Given the description of an element on the screen output the (x, y) to click on. 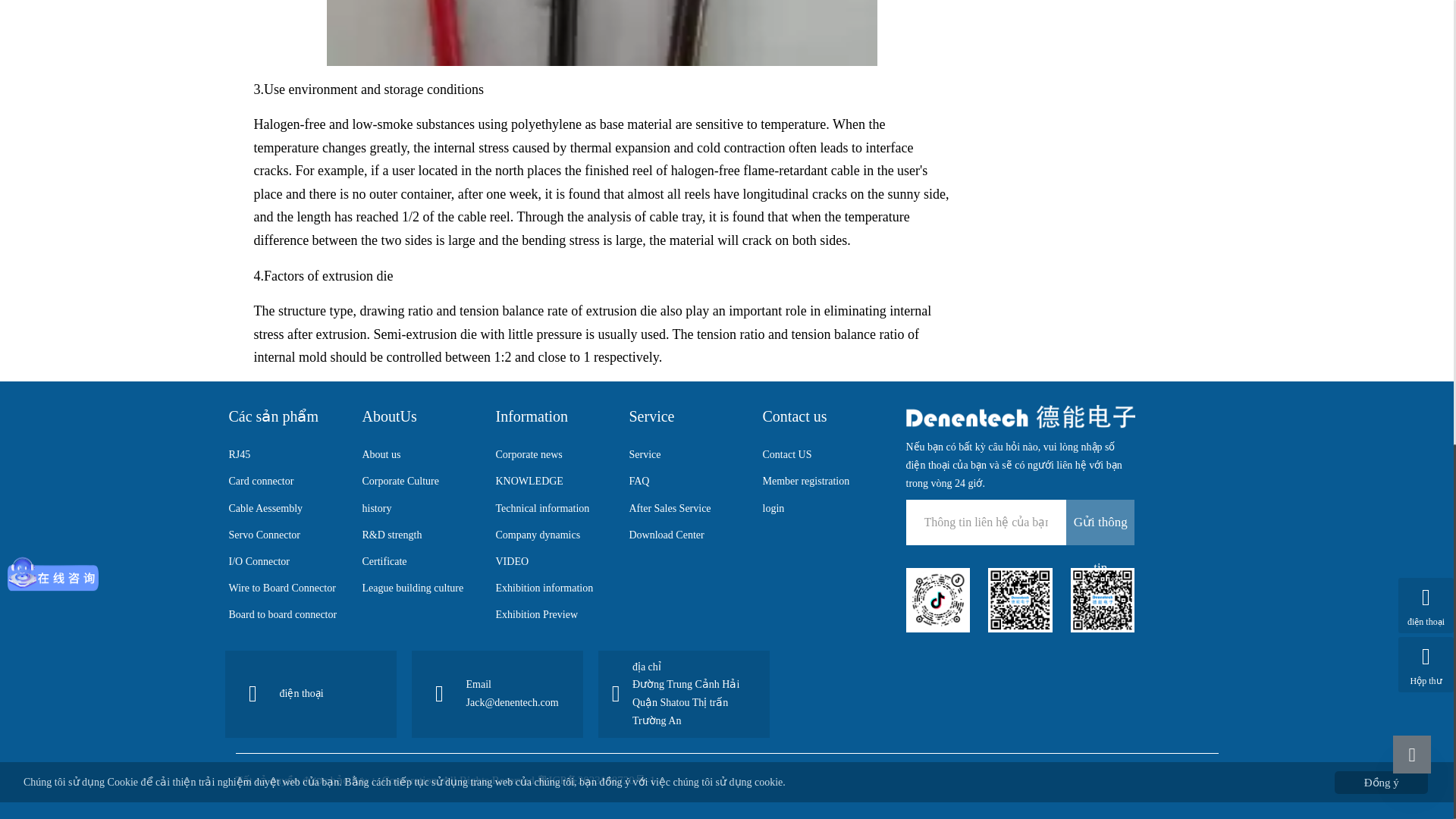
Denentech Electronic Technology Co., LTd (1019, 416)
